Given the description of an element on the screen output the (x, y) to click on. 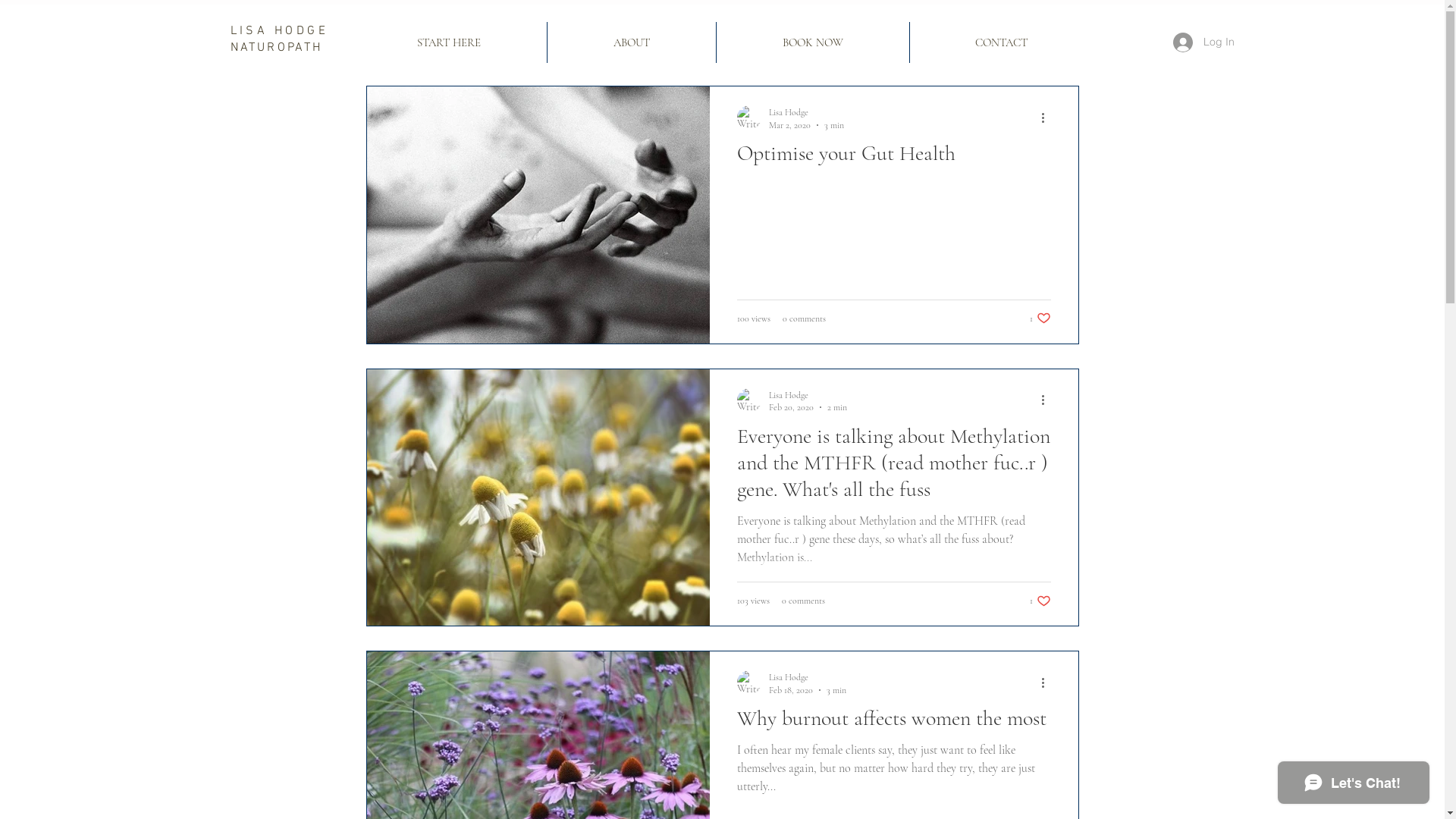
BOOK NOW Element type: text (812, 41)
Lisa Hodge Element type: text (806, 111)
Optimise your Gut Health Element type: text (894, 157)
Lisa Hodge Element type: text (807, 677)
START HERE Element type: text (448, 41)
CONTACT Element type: text (1000, 41)
1 like. Post not marked as liked
1 Element type: text (1040, 317)
Why burnout affects women the most Element type: text (894, 722)
ABOUT Element type: text (630, 41)
0 comments Element type: text (802, 600)
0 comments Element type: text (803, 317)
Lisa Hodge Element type: text (807, 394)
Log In Element type: text (1202, 42)
1 like. Post not marked as liked
1 Element type: text (1040, 600)
